Given the description of an element on the screen output the (x, y) to click on. 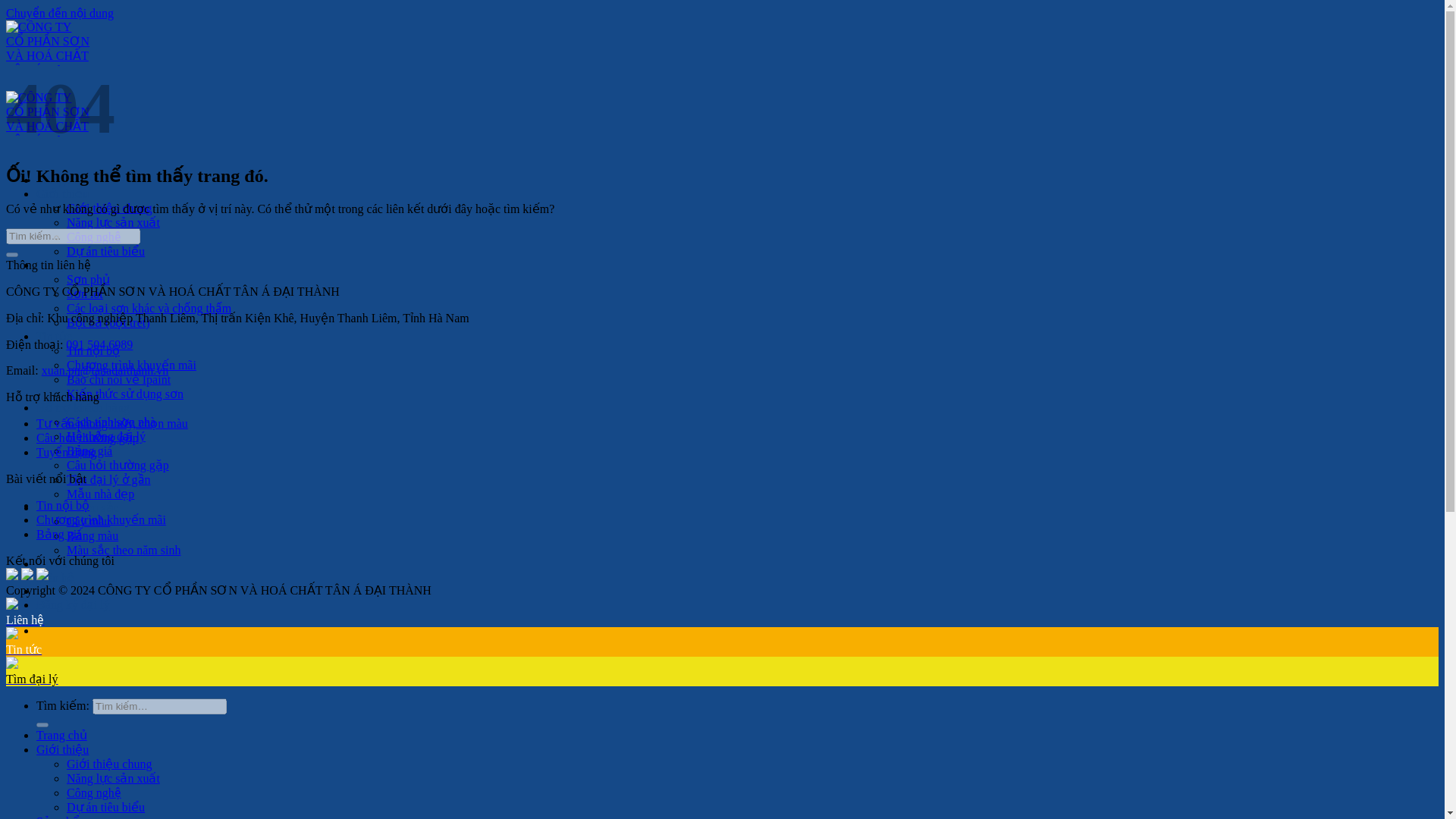
091 504 6989 (98, 344)
